Given the description of an element on the screen output the (x, y) to click on. 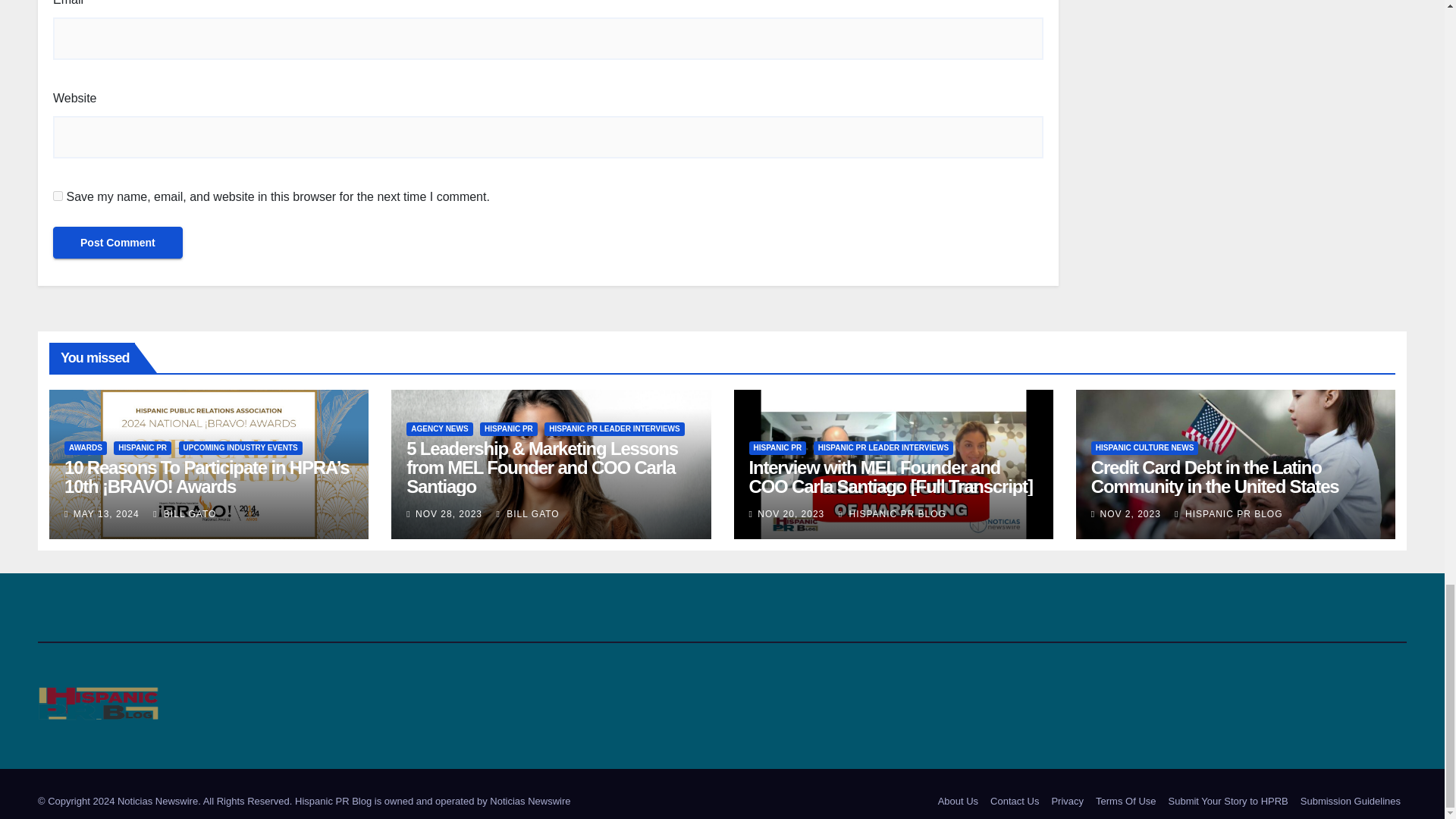
Post Comment (117, 242)
yes (57, 195)
